Given the description of an element on the screen output the (x, y) to click on. 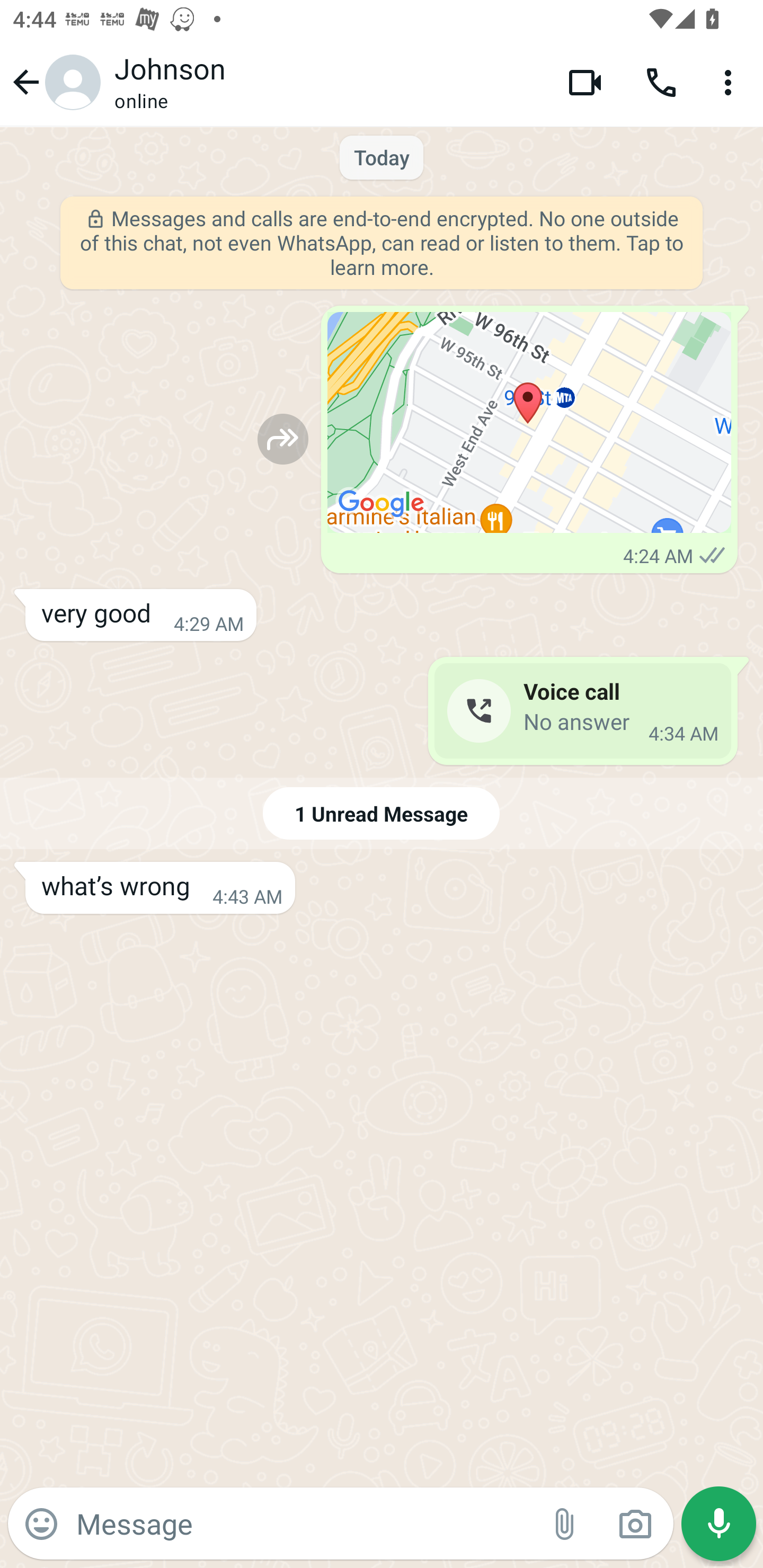
Johnson online (327, 82)
Navigate up (54, 82)
Video call (585, 81)
Voice call (661, 81)
More options (731, 81)
Location (528, 422)
Forward to… (282, 438)
Emoji (41, 1523)
Attach (565, 1523)
Camera (634, 1523)
Message (303, 1523)
